Given the description of an element on the screen output the (x, y) to click on. 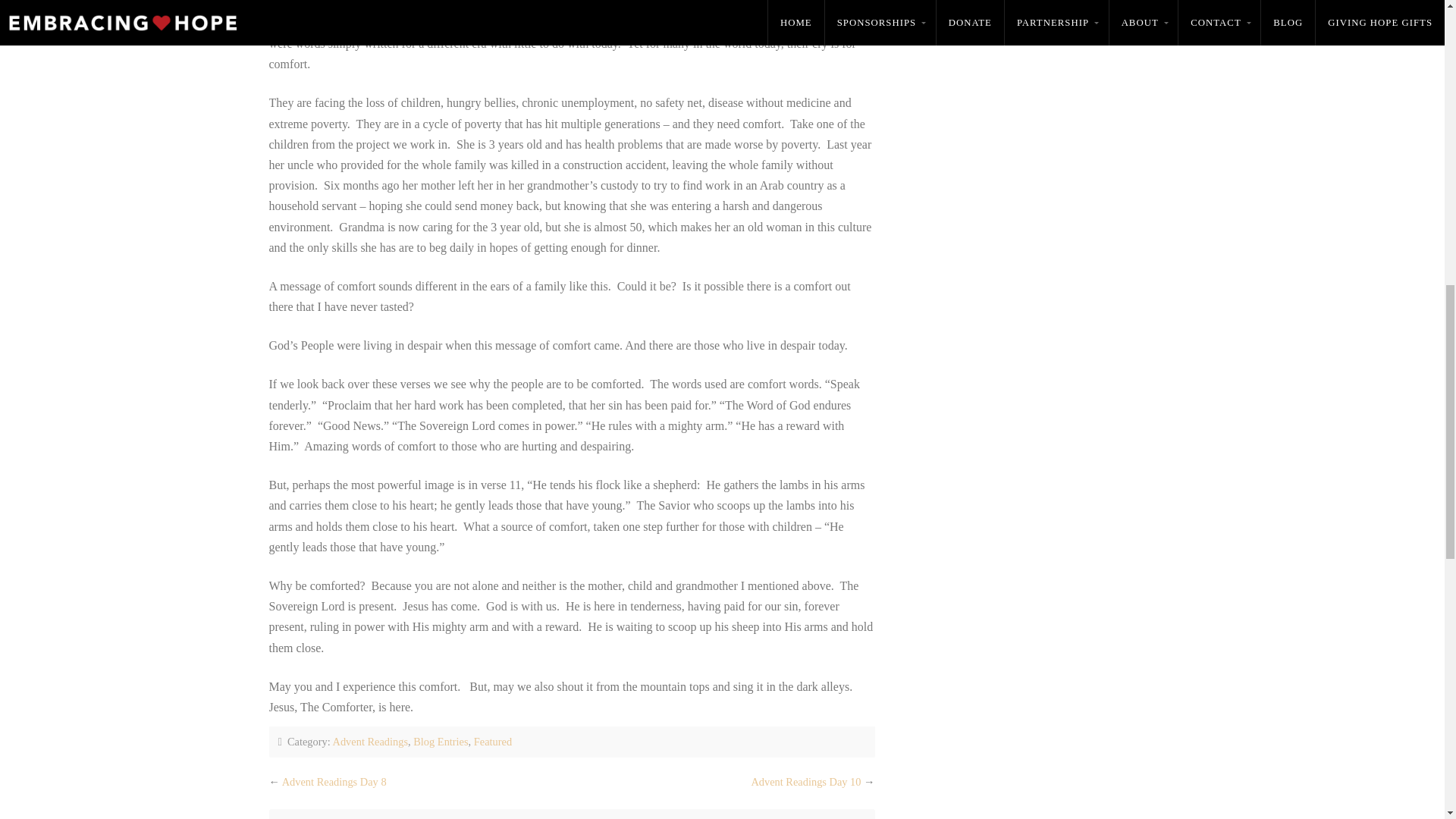
Advent Readings (371, 741)
Advent Readings Day 10 (805, 781)
Advent Readings Day 8 (334, 781)
Featured (493, 741)
Blog Entries (440, 741)
